Given the description of an element on the screen output the (x, y) to click on. 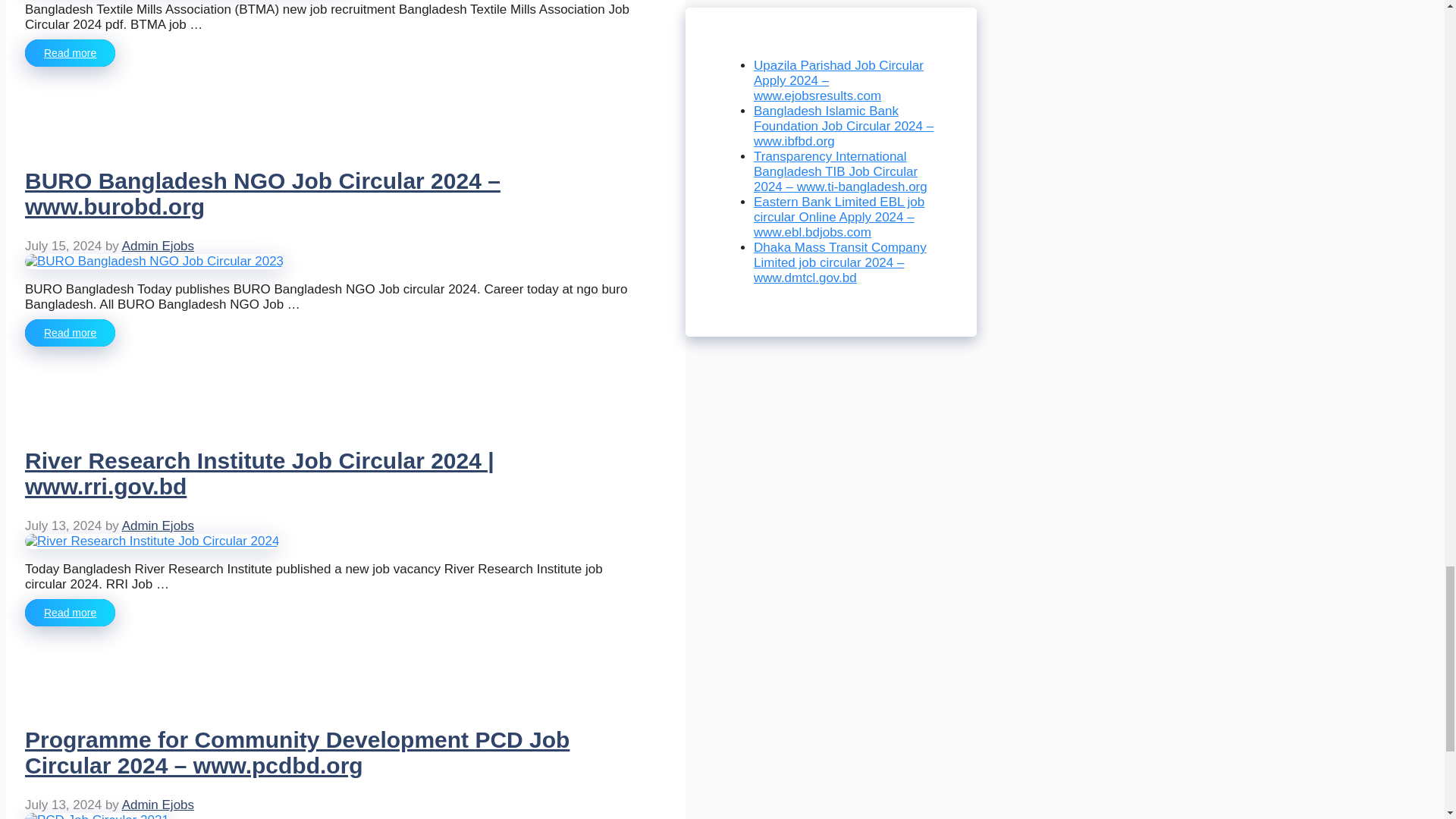
View all posts by Admin Ejobs (157, 246)
View all posts by Admin Ejobs (157, 525)
